Given the description of an element on the screen output the (x, y) to click on. 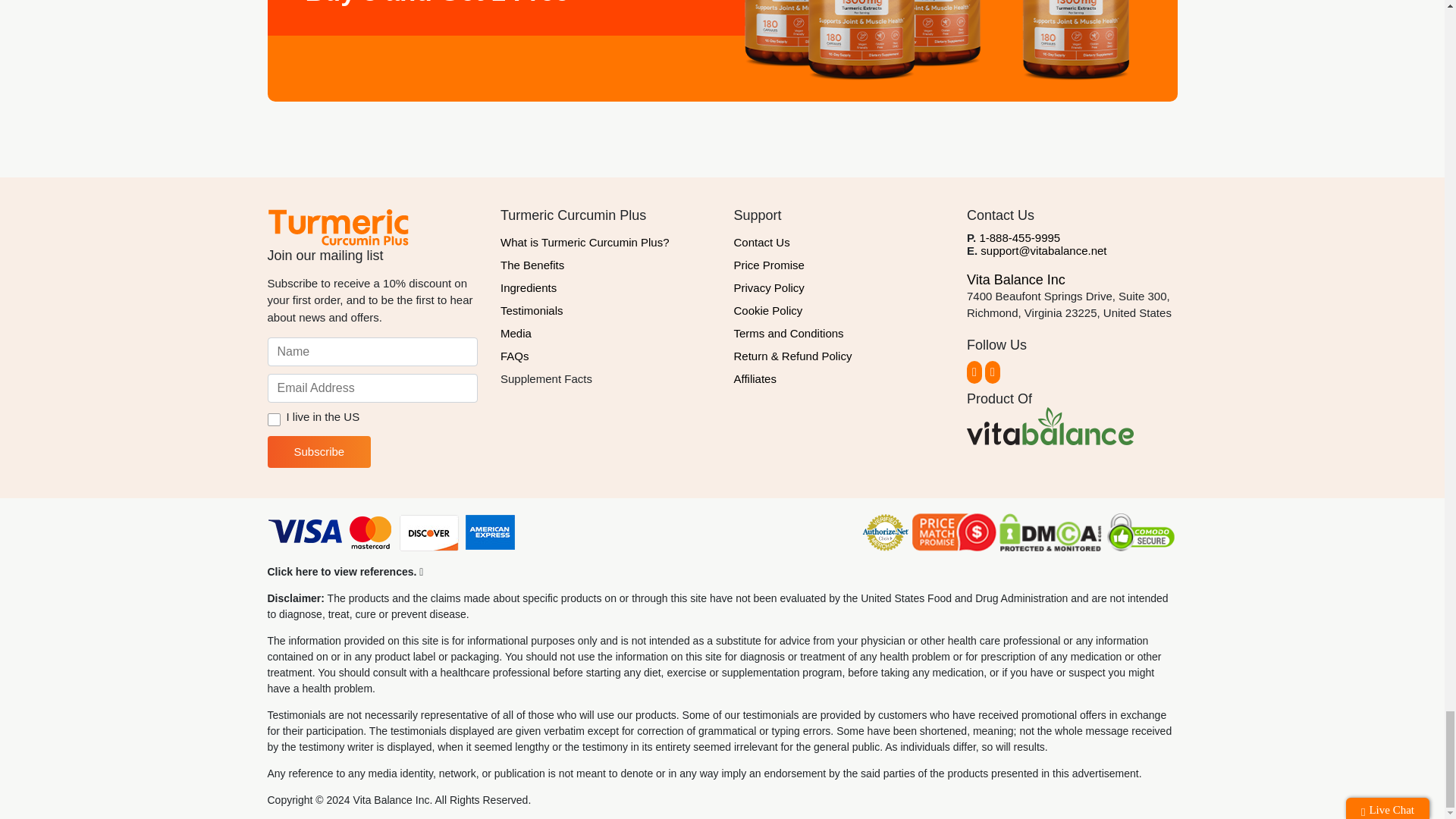
Ingredients (605, 287)
FAQs (605, 355)
Turmeric Curcumin Plus Official Logo (336, 226)
What is Turmeric Curcumin Plus? (605, 241)
Subscribe (318, 451)
Contact Us (838, 241)
DMCA.com Protection Status (1049, 533)
Price Promise (838, 264)
Media (605, 333)
Vita Balance Official Logo (1050, 426)
Testimonials (605, 310)
The Benefits (605, 264)
